Given the description of an element on the screen output the (x, y) to click on. 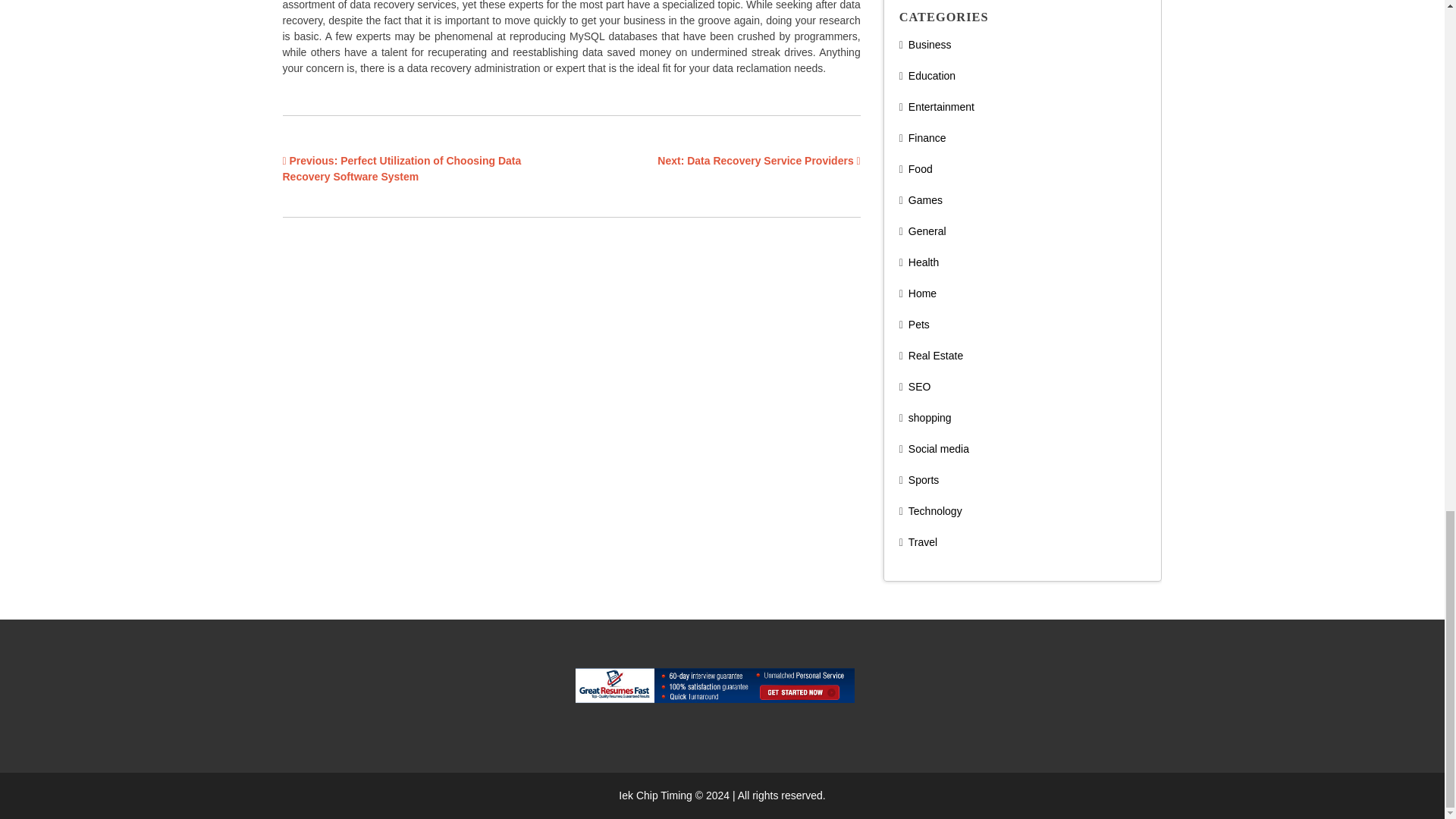
Entertainment (941, 106)
General (927, 231)
Real Estate (935, 355)
Education (931, 75)
Sports (923, 480)
Health (923, 262)
Pets (919, 324)
Games (925, 200)
Home (922, 293)
Next: Data Recovery Service Providers (759, 160)
shopping (930, 417)
Business (930, 44)
Food (920, 168)
Finance (927, 137)
